Given the description of an element on the screen output the (x, y) to click on. 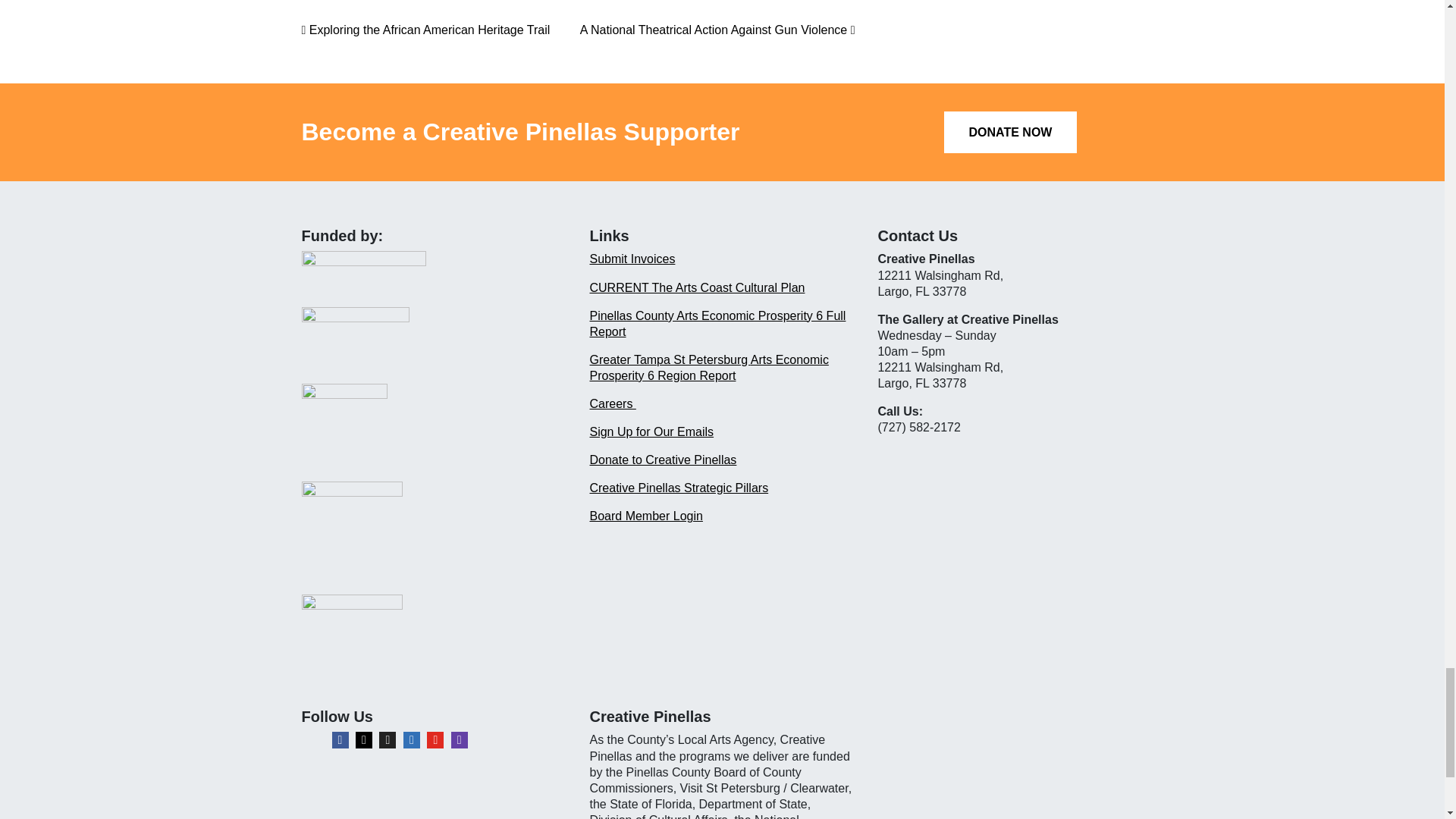
Instagram (363, 740)
Linkedin (411, 740)
Facebook (340, 740)
